Given the description of an element on the screen output the (x, y) to click on. 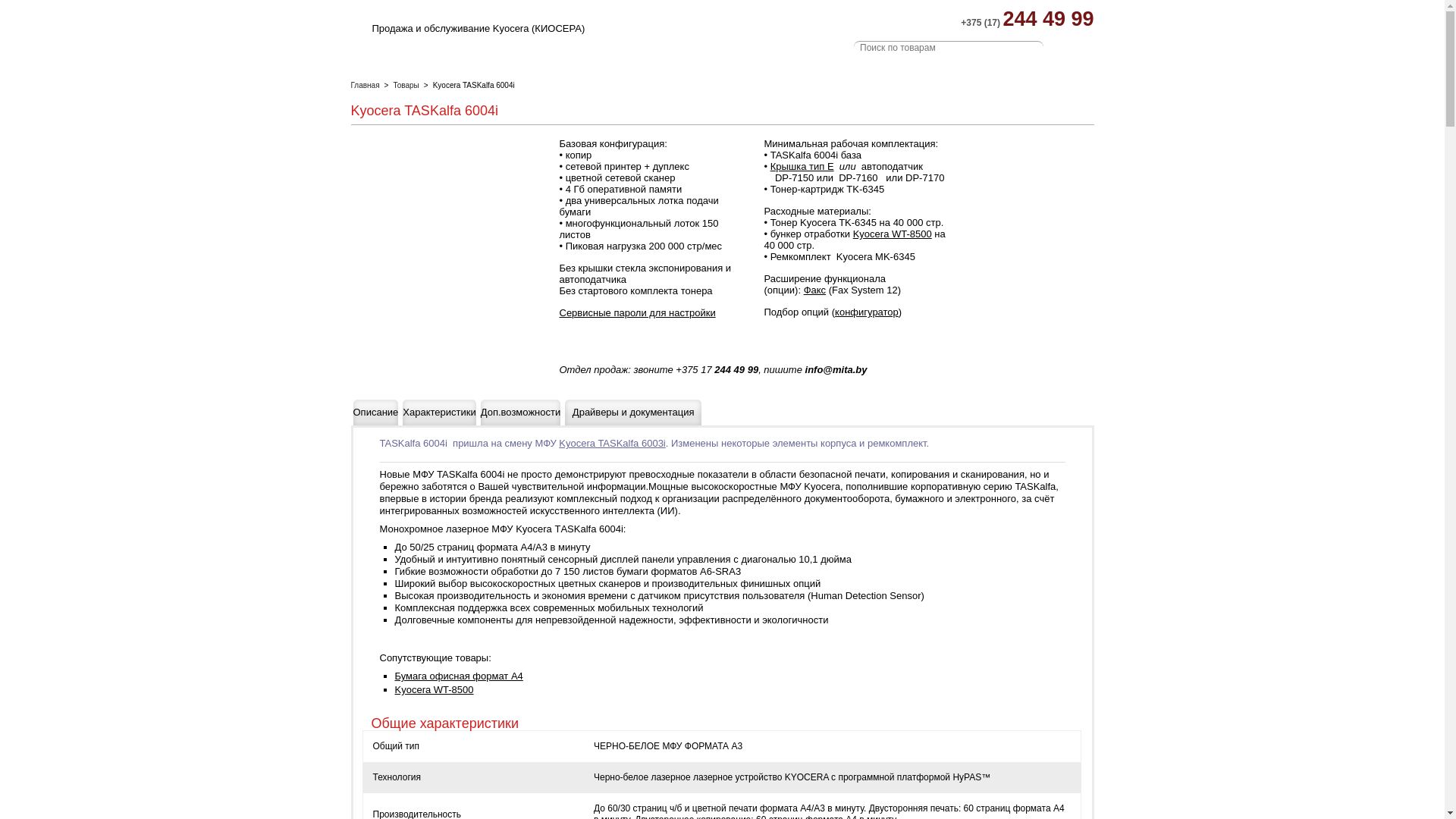
(0) Element type: text (1082, 47)
Kyocera WT-8500 Element type: text (433, 689)
+375 (17) 244 49 99 Element type: text (1026, 18)
Kyocera TASKalfa 6003i Element type: text (611, 442)
Kyocera WT-8500 Element type: text (892, 233)
